Given the description of an element on the screen output the (x, y) to click on. 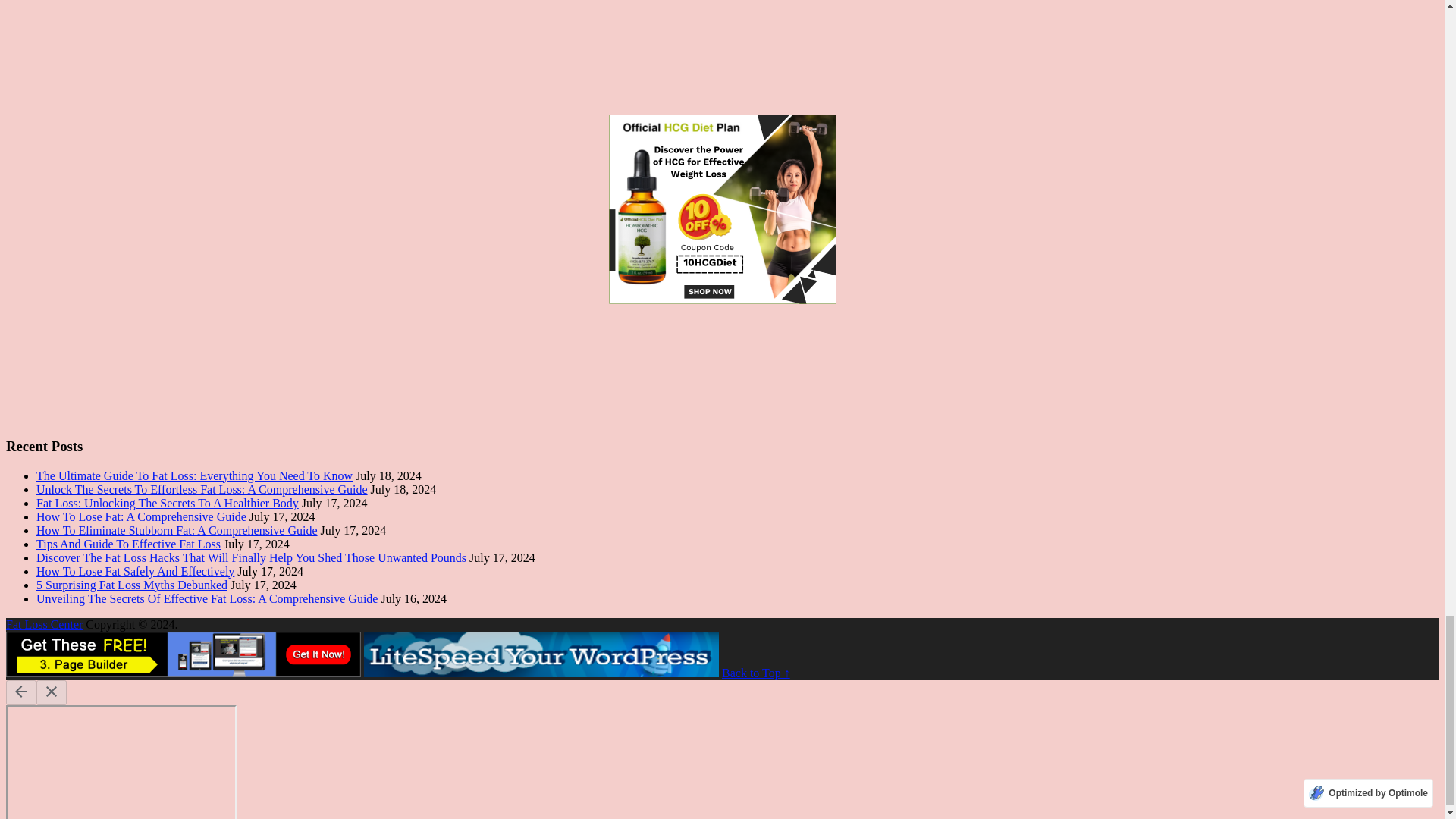
Fat Loss: Unlocking The Secrets To A Healthier Body (167, 502)
How To Lose Fat Safely And Effectively (135, 571)
Fat Loss Center (43, 624)
5 Surprising Fat Loss Myths Debunked (131, 584)
How To Eliminate Stubborn Fat: A Comprehensive Guide (176, 530)
How To Lose Fat: A Comprehensive Guide (141, 516)
The Ultimate Guide To Fat Loss: Everything You Need To Know (194, 475)
Tips And Guide To Effective Fat Loss (128, 543)
